Given the description of an element on the screen output the (x, y) to click on. 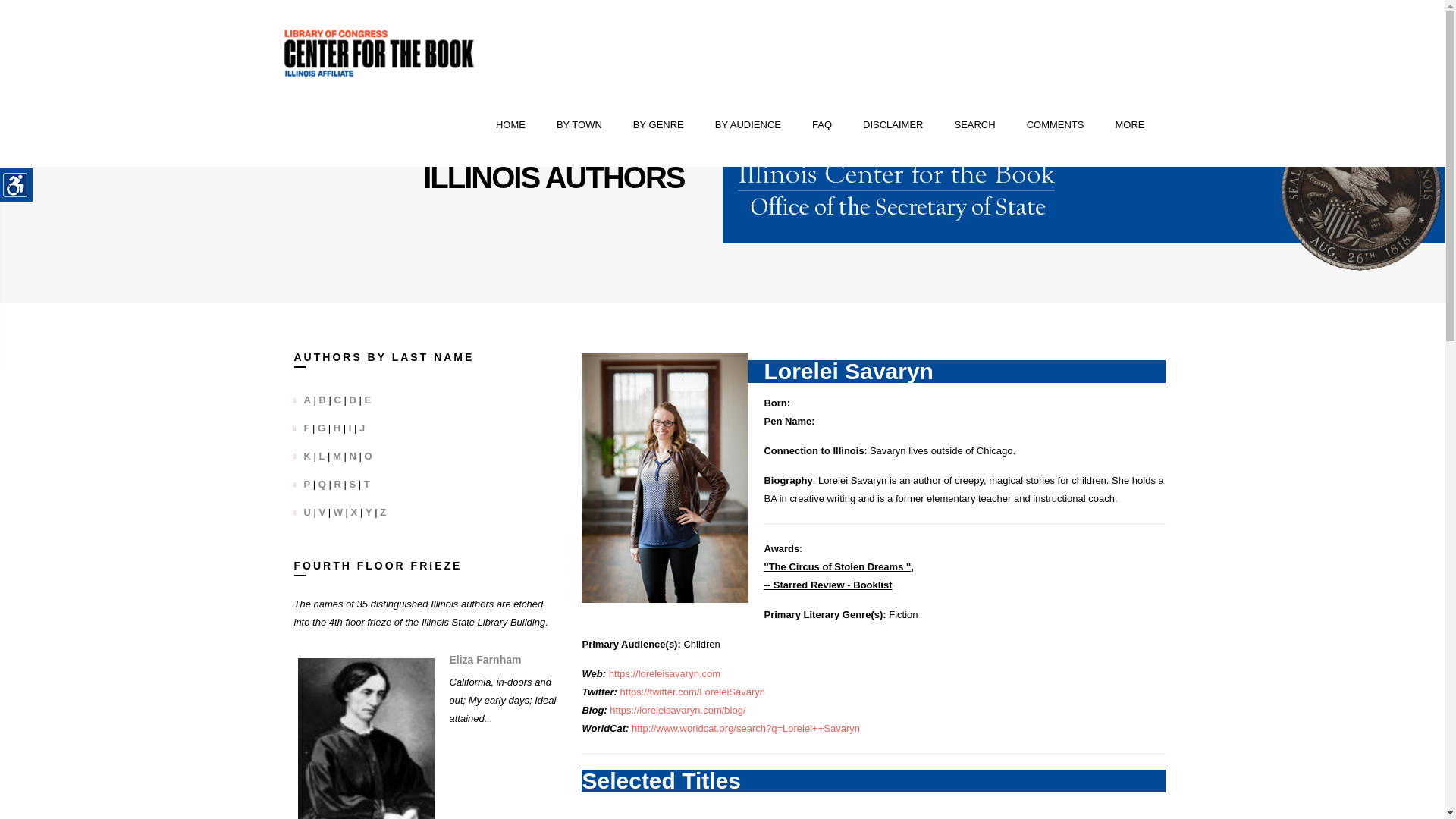
Link to the Library of Congress's Center for the Book (379, 52)
DISCLAIMER (893, 125)
COMMENTS (1055, 125)
BY AUDIENCE (747, 125)
A disclaimer from the Illinois Secretary of State (893, 125)
Illinois authors, arranged by audience (747, 125)
